Given the description of an element on the screen output the (x, y) to click on. 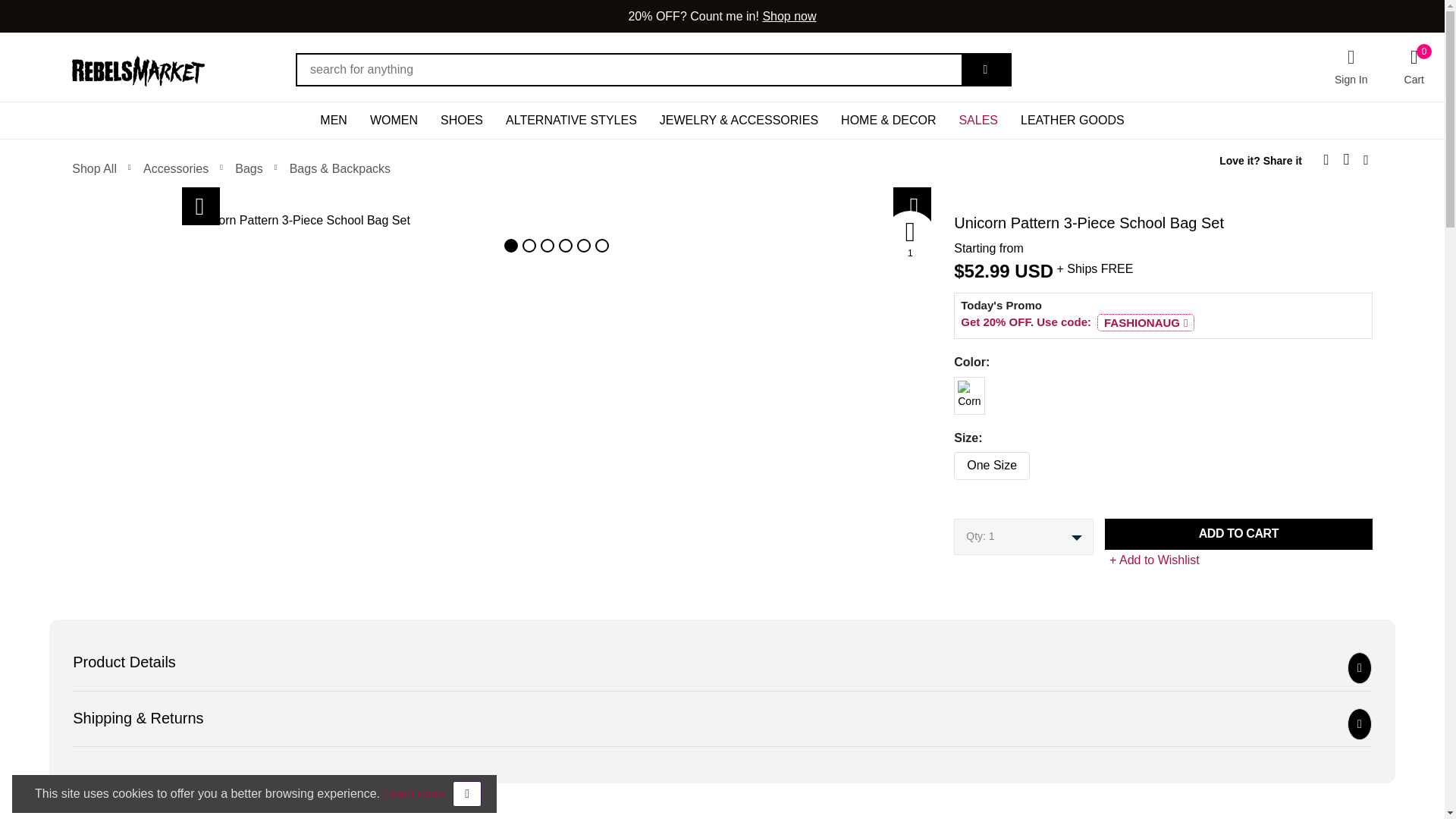
USD (1033, 271)
Corn (949, 386)
Unicorn Pattern 3-Piece School Bag Set (91, 220)
One Size (949, 462)
Sign In (1351, 66)
Unicorn Pattern 3-Piece School Bag Set (556, 220)
52.99 (986, 271)
MEN (333, 119)
WOMEN (393, 119)
